Given the description of an element on the screen output the (x, y) to click on. 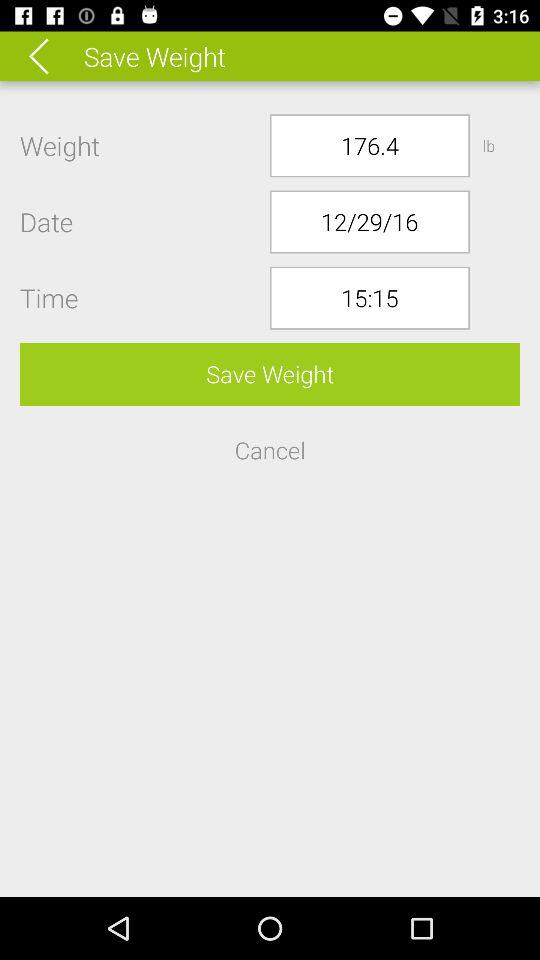
turn off the app next to weight (369, 145)
